Given the description of an element on the screen output the (x, y) to click on. 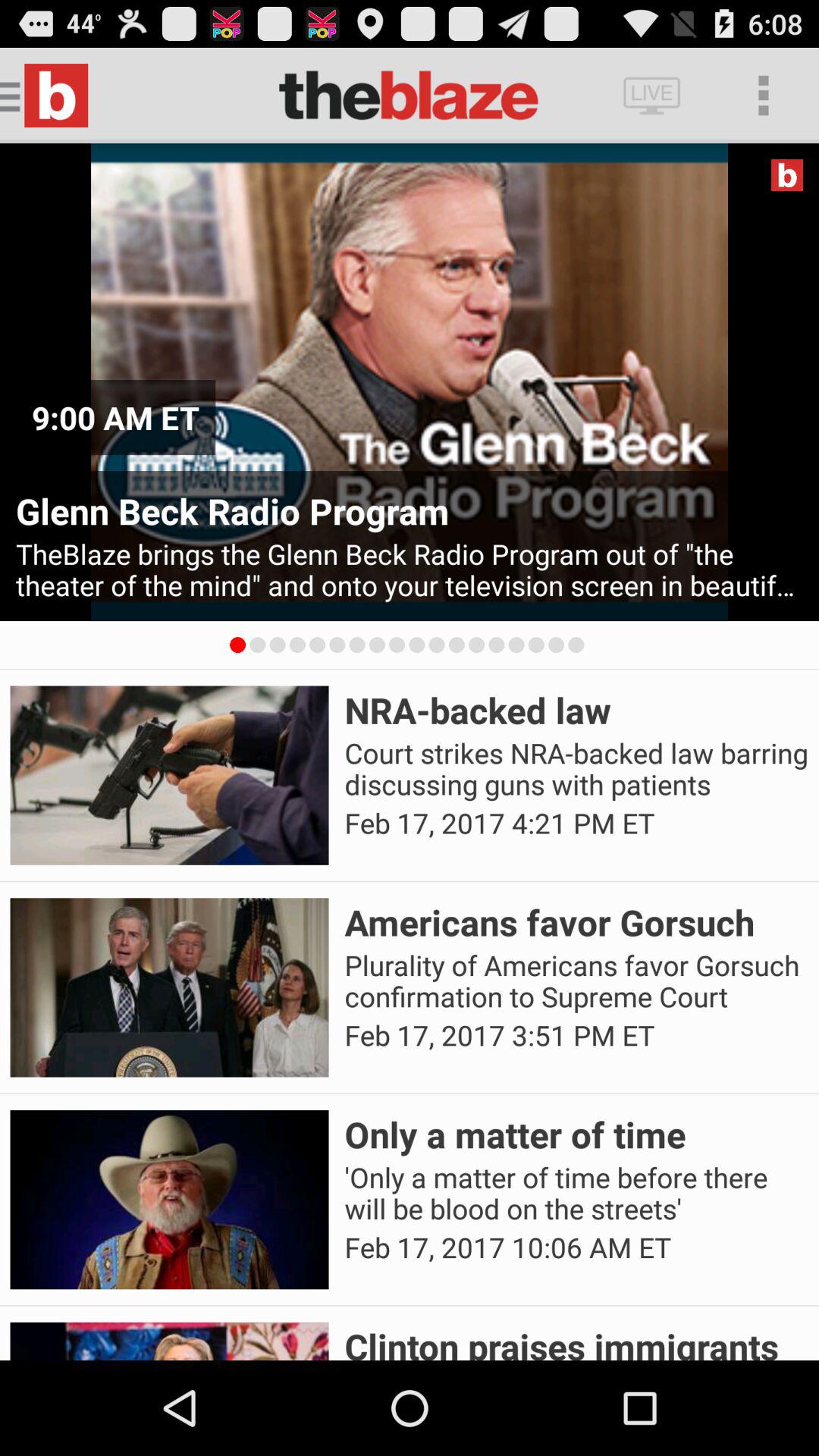
turn on the clinton praises immigrants app (576, 1341)
